Given the description of an element on the screen output the (x, y) to click on. 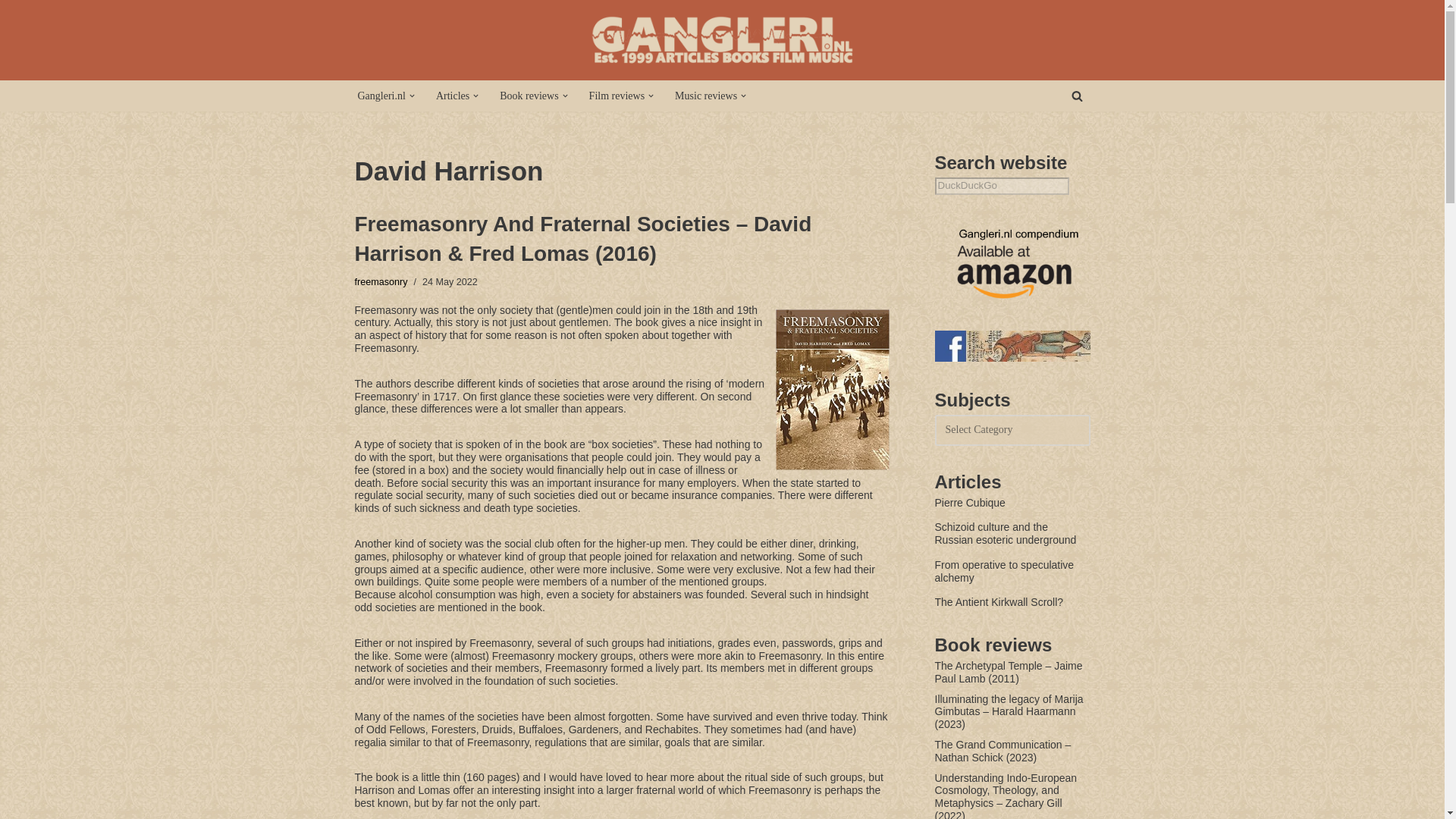
Skip to content (11, 31)
Gangleri.nl (382, 95)
Articles (451, 95)
Film reviews (617, 95)
Book reviews (528, 95)
Music reviews (705, 95)
